Given the description of an element on the screen output the (x, y) to click on. 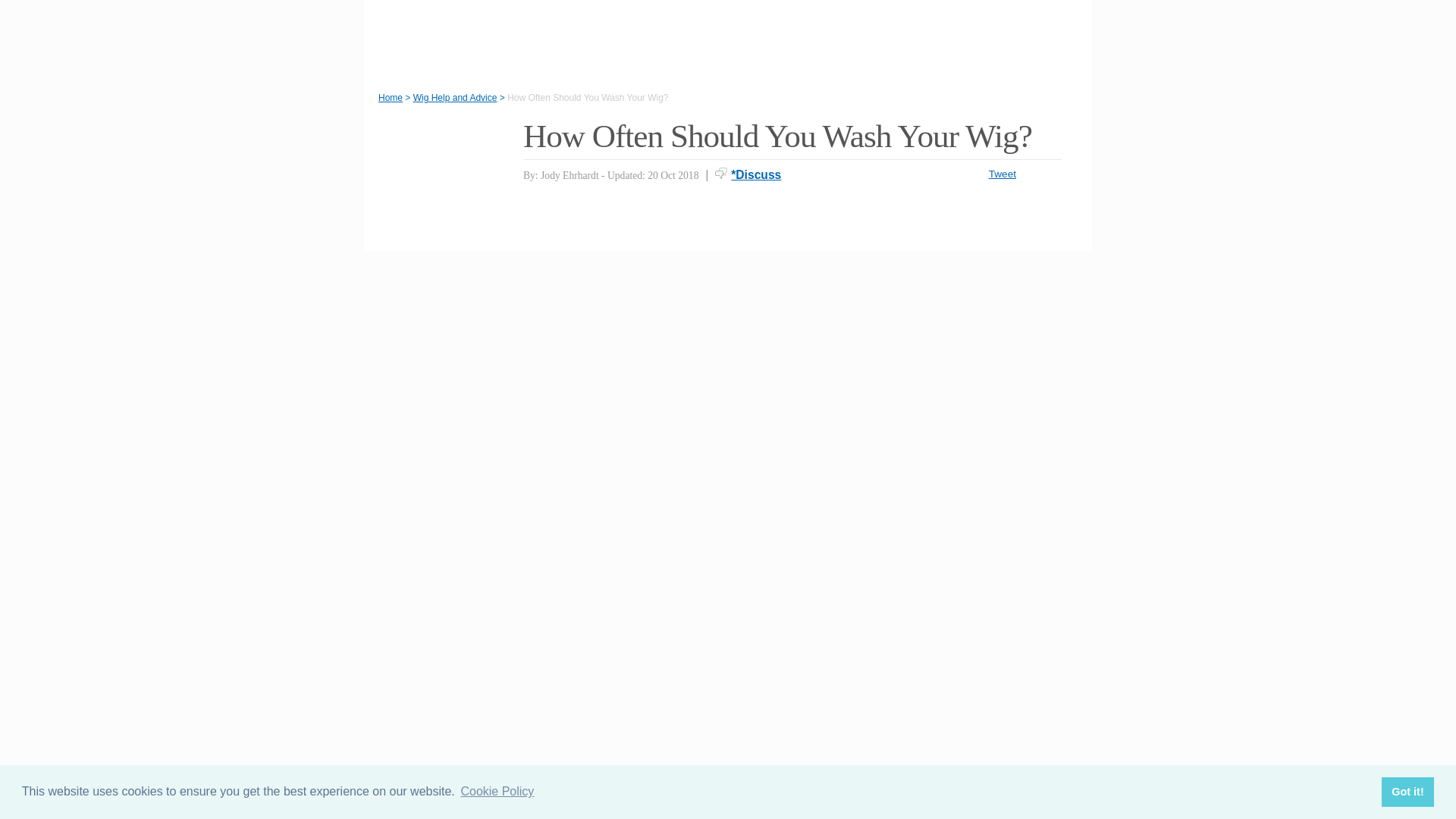
Home (390, 97)
Wig Help and Advice (455, 97)
Tweet (1002, 173)
